Given the description of an element on the screen output the (x, y) to click on. 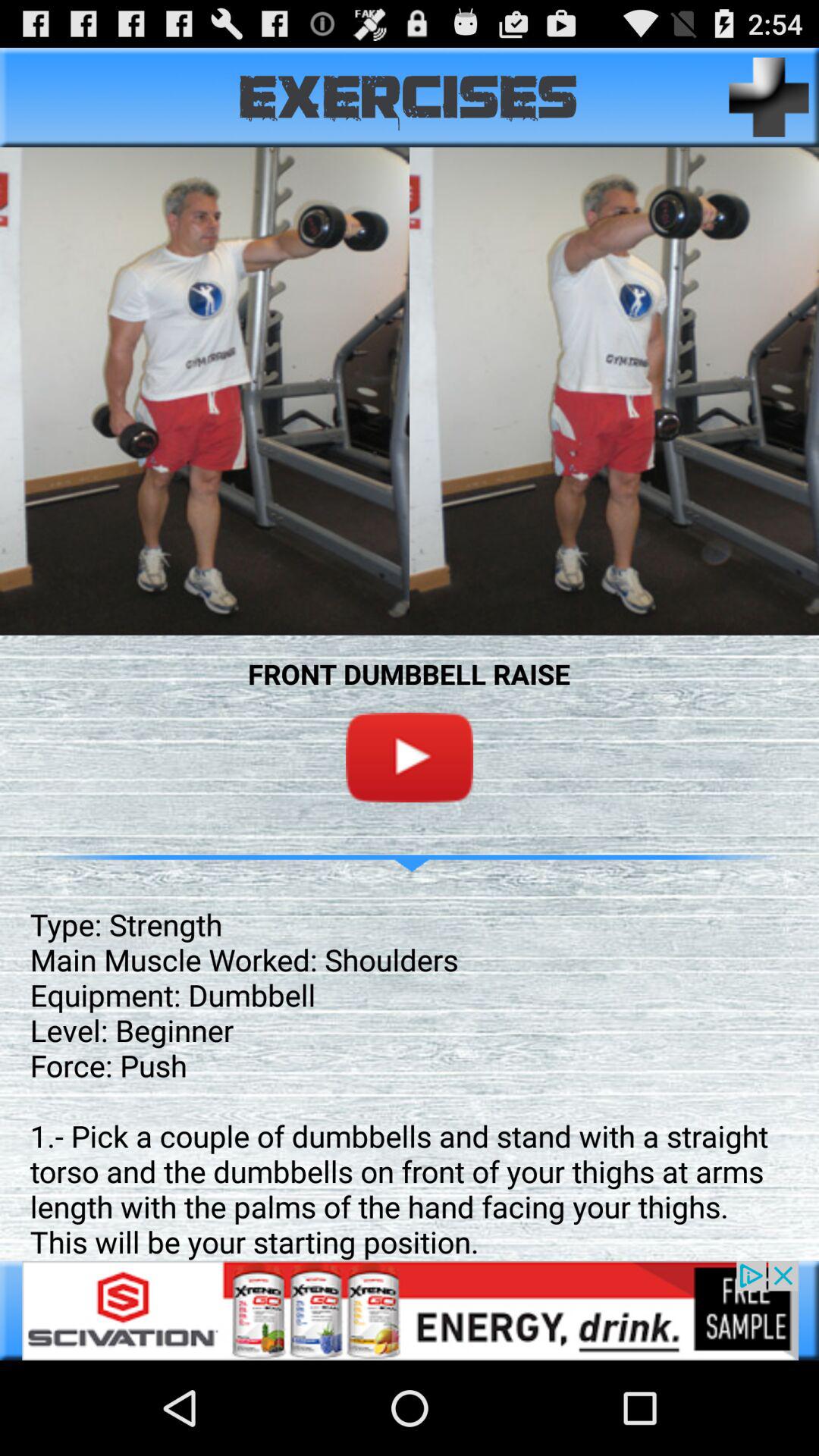
add more (768, 97)
